Given the description of an element on the screen output the (x, y) to click on. 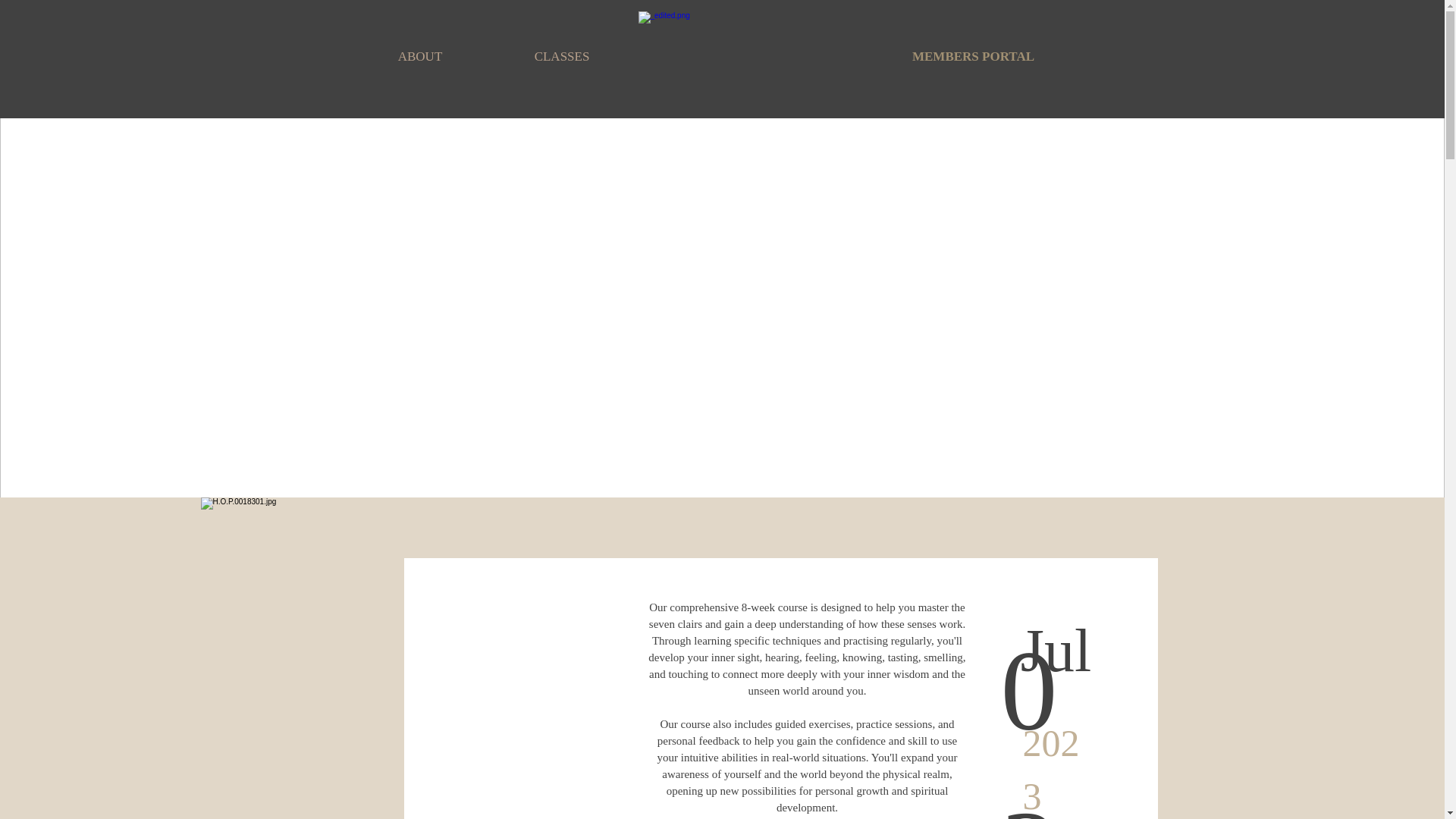
ABOUT (419, 56)
MEMBERS PORTAL (972, 56)
CLASSES (561, 56)
